Given the description of an element on the screen output the (x, y) to click on. 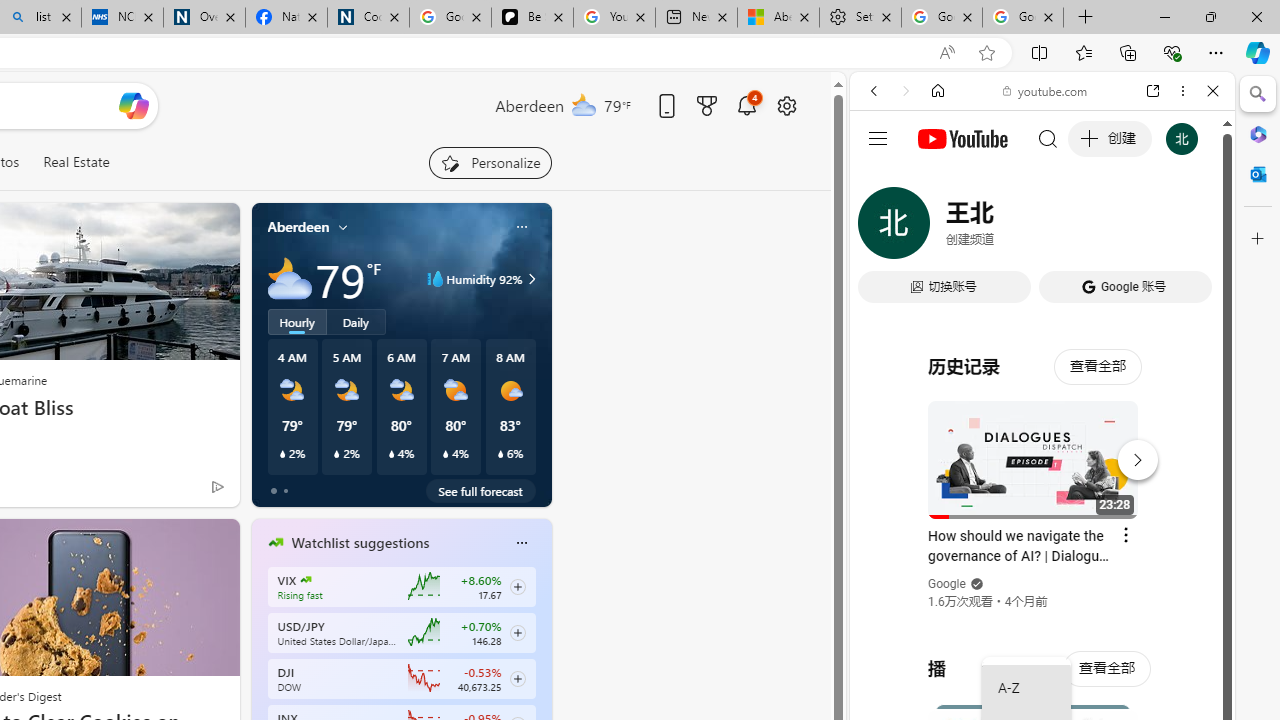
Real Estate (75, 162)
Search Filter, Search Tools (1093, 228)
Music (1042, 543)
Open Copilot (132, 105)
YouTube (1034, 296)
